Given the description of an element on the screen output the (x, y) to click on. 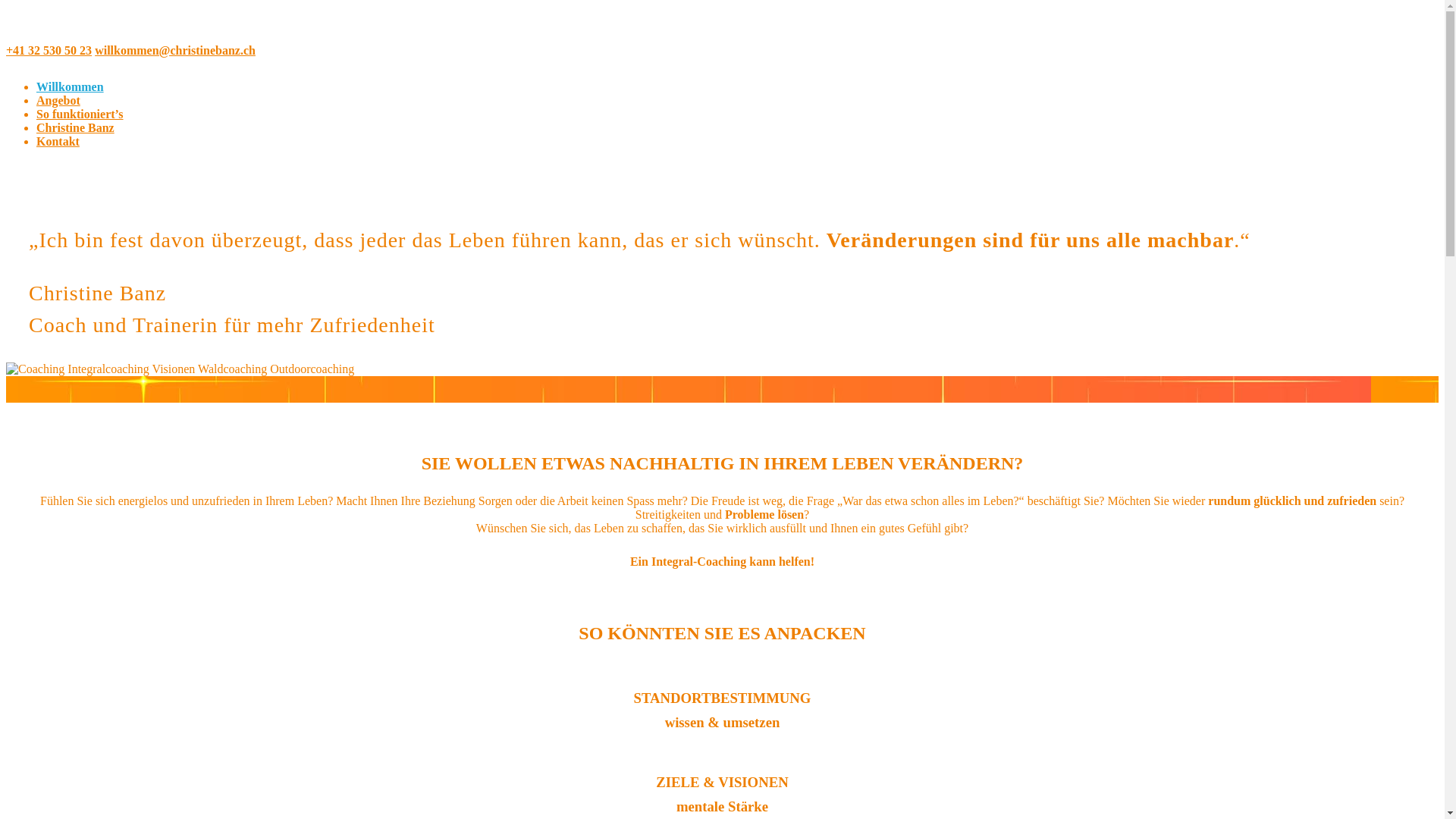
willkommen@christinebanz.ch Element type: text (174, 49)
Christine_Banz_Coach_Trainer_Zufriedenheit_900x600_300dpi Element type: hover (180, 369)
Willkommen Element type: text (69, 86)
Christine Banz Element type: text (75, 127)
+41 32 530 50 23 Element type: text (48, 49)
Kontakt Element type: text (57, 140)
Angebot Element type: text (58, 100)
